Given the description of an element on the screen output the (x, y) to click on. 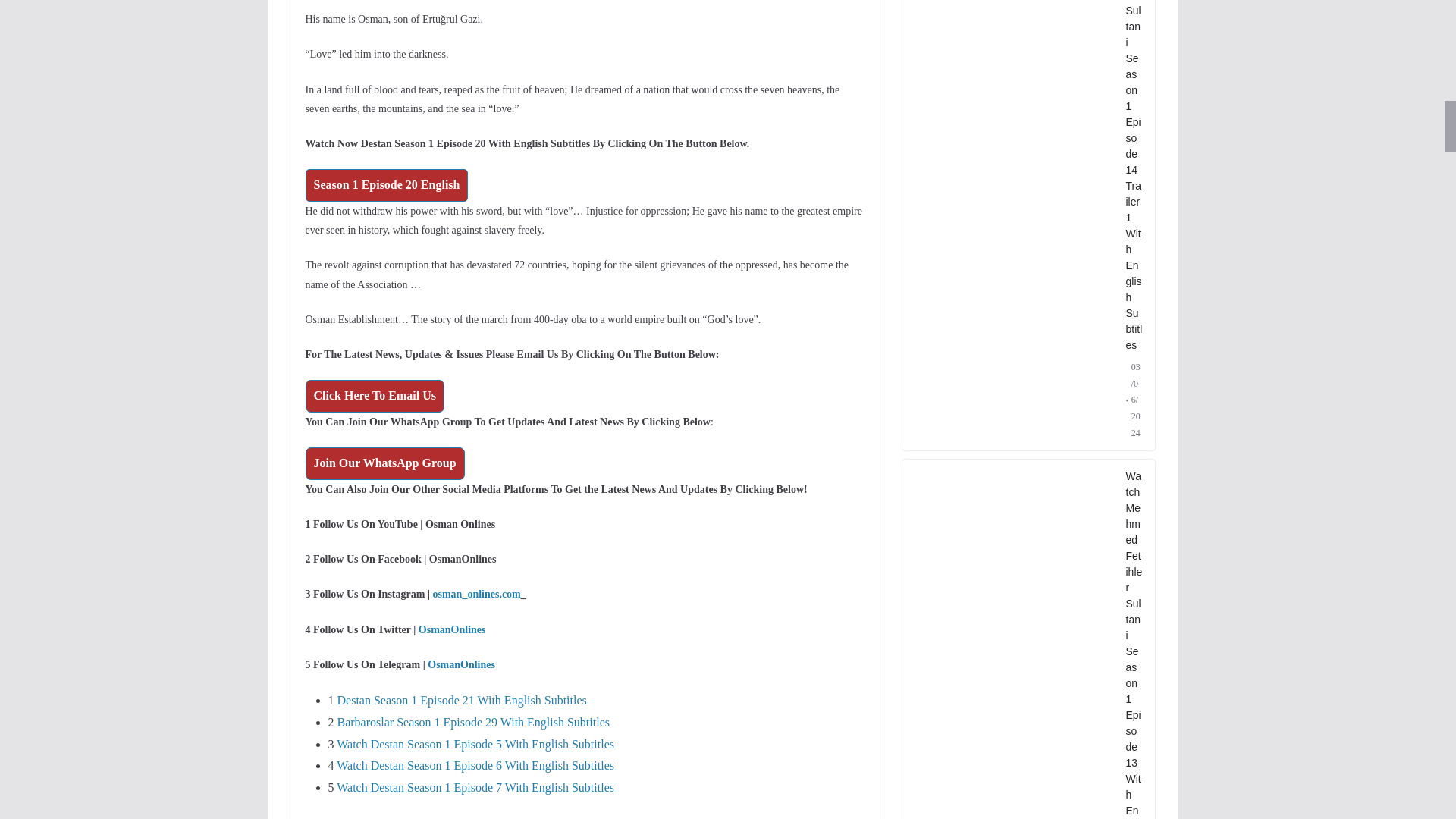
Destan Season 1 Episode 21 With English Subtitles (461, 699)
Season 1 Episode 20 English (385, 184)
OsmanOnlines (452, 629)
Watch Destan Season 1 Episode 5 With English Subtitles (475, 744)
Watch Destan Season 1 Episode 6 With English Subtitles (475, 765)
Join Our WhatsApp Group (384, 463)
Watch Destan Season 1 Episode 7 With English Subtitles (475, 787)
OsmanOnlines (461, 664)
Barbaroslar Season 1 Episode 29 With English Subtitles (472, 721)
Click Here To Email Us (374, 396)
